Given the description of an element on the screen output the (x, y) to click on. 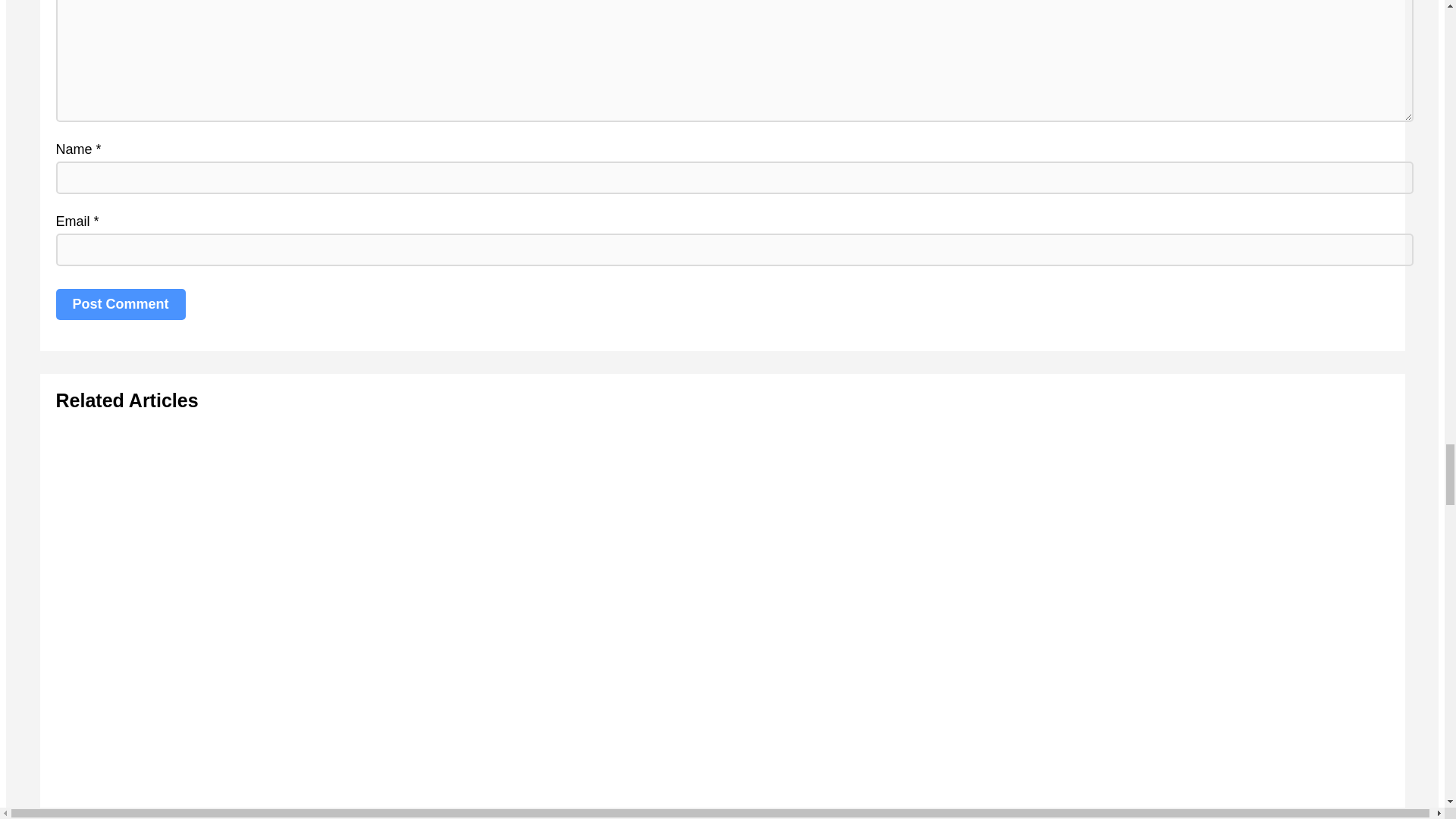
Post Comment (121, 304)
